Given the description of an element on the screen output the (x, y) to click on. 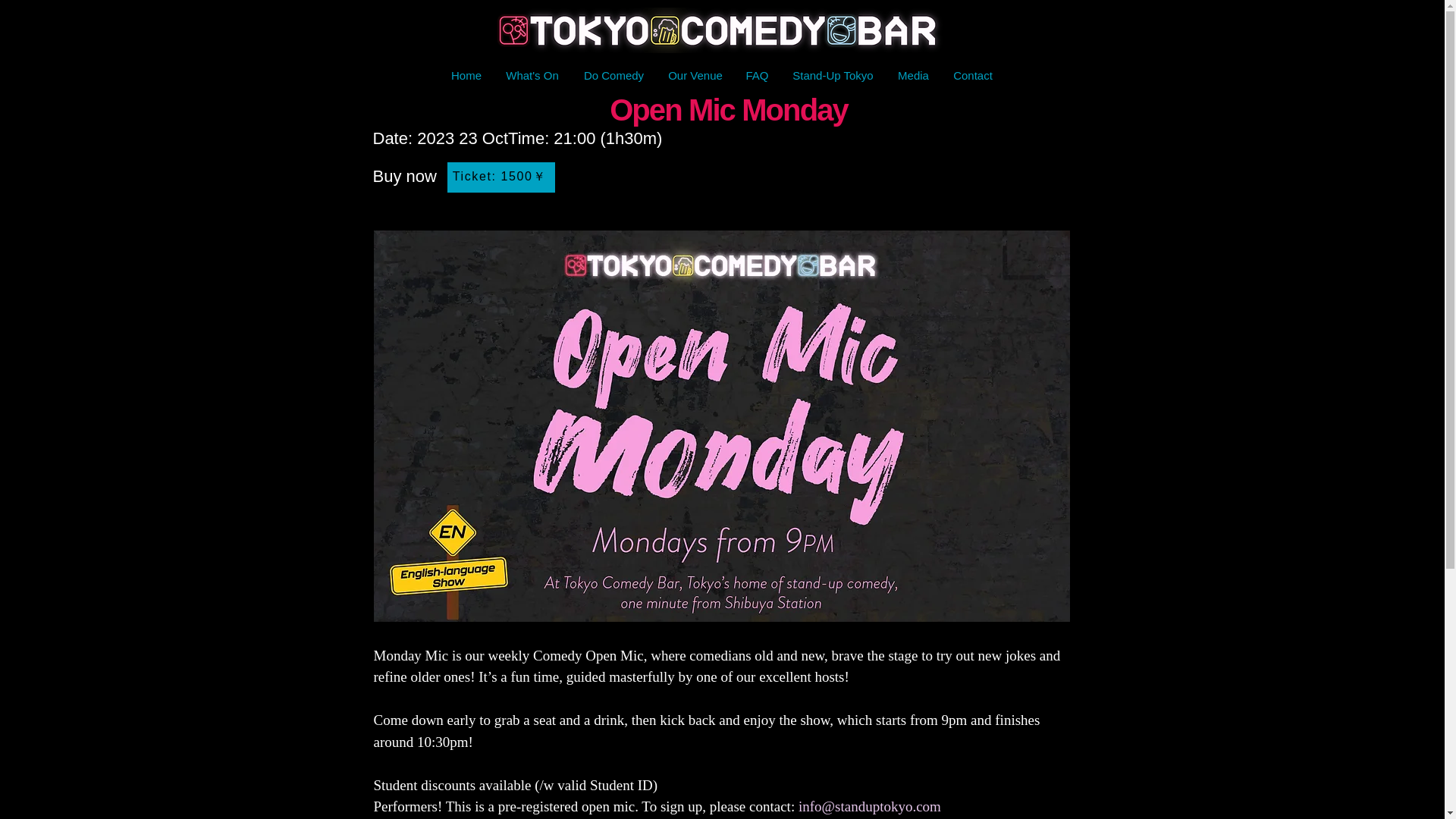
FAQ (755, 75)
What's On (531, 75)
Contact (972, 75)
Our Venue (695, 75)
Media (912, 75)
Stand-Up Tokyo (831, 75)
Home (466, 75)
Do Comedy (614, 75)
